Given the description of an element on the screen output the (x, y) to click on. 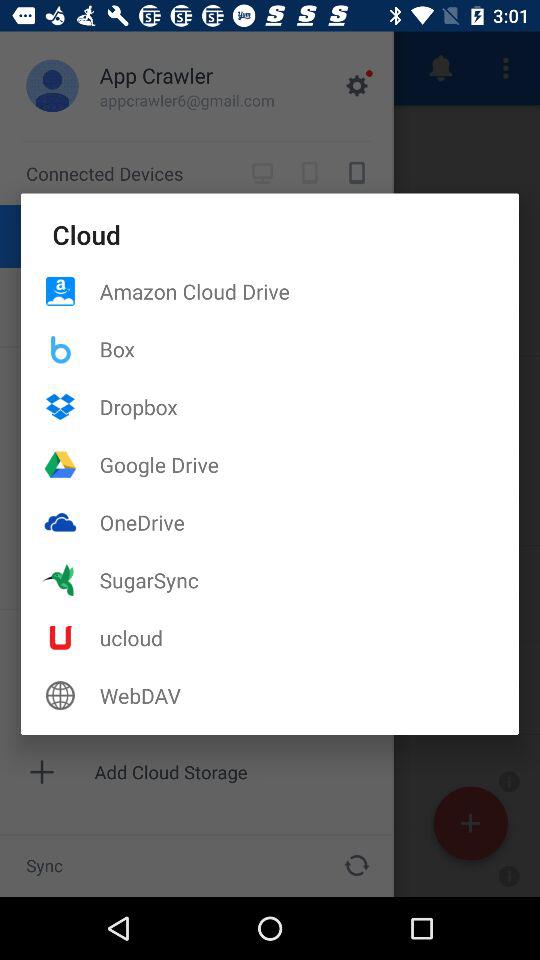
press the google drive (309, 464)
